Given the description of an element on the screen output the (x, y) to click on. 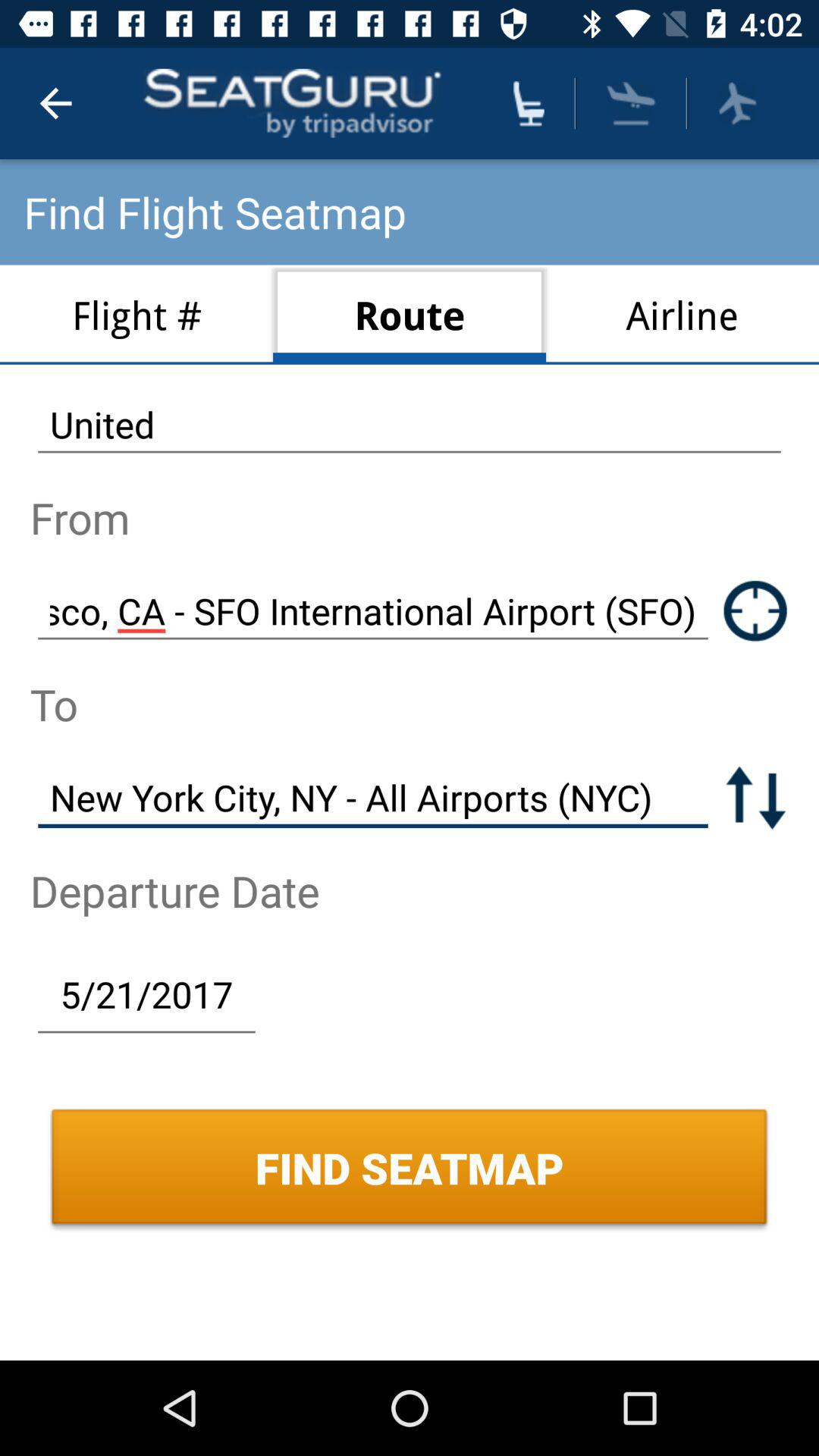
choose seat option (528, 103)
